Given the description of an element on the screen output the (x, y) to click on. 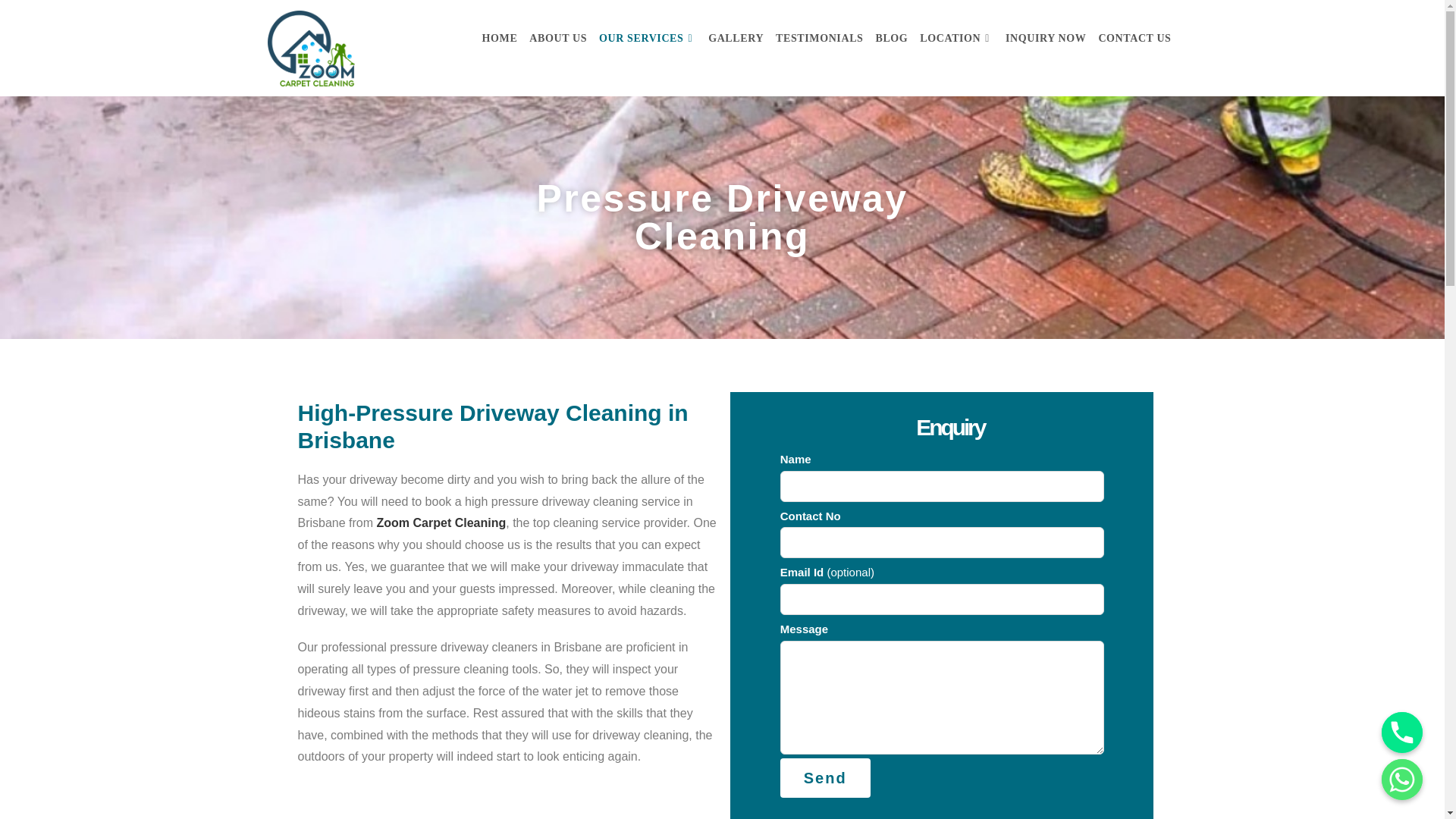
TESTIMONIALS (819, 38)
LOCATION (956, 38)
OUR SERVICES (646, 38)
ABOUT US (557, 38)
CONTACT US (1134, 38)
INQUIRY NOW (1045, 38)
GALLERY (735, 38)
